Given the description of an element on the screen output the (x, y) to click on. 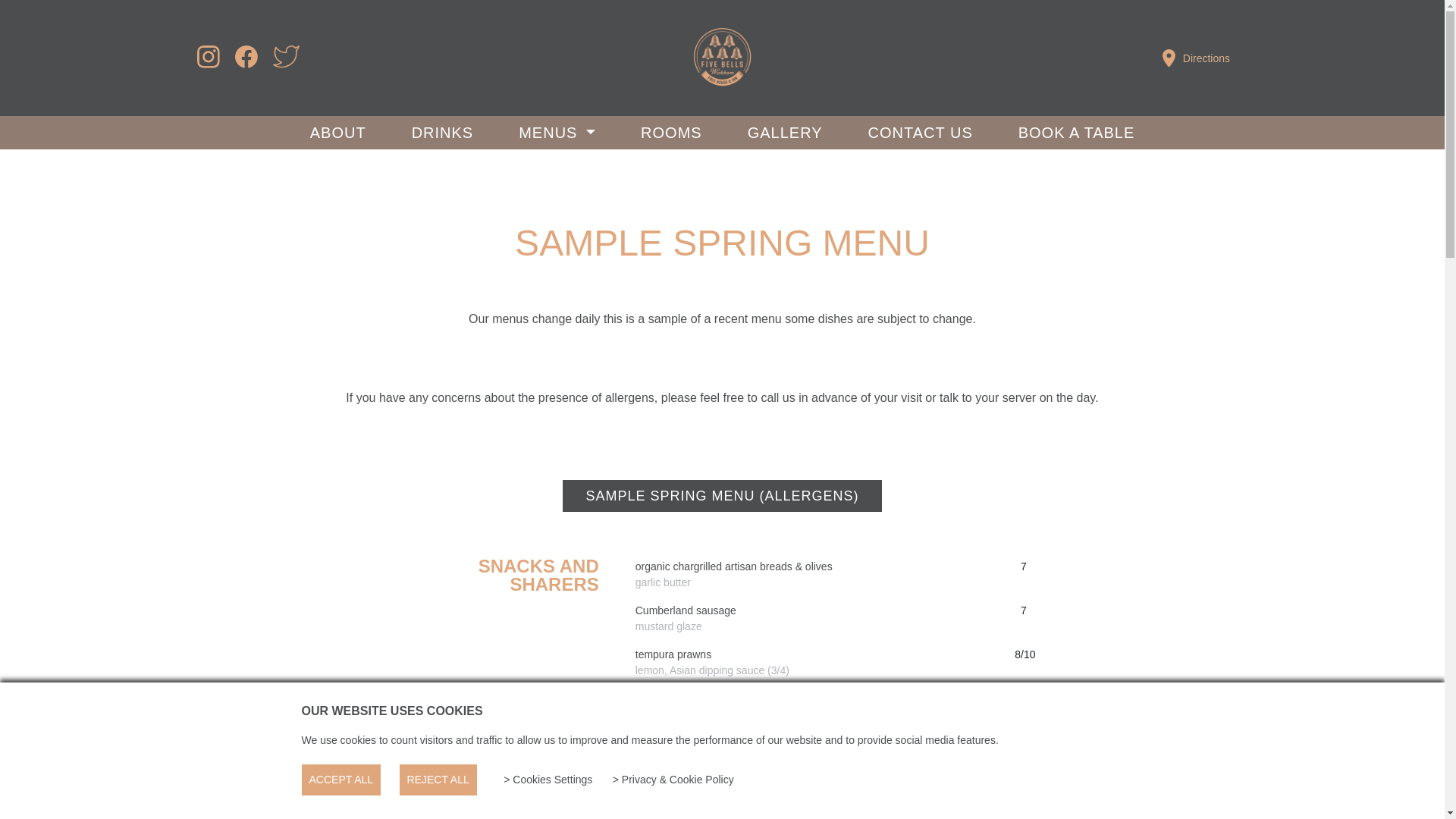
Directions (1195, 57)
MENUS (556, 132)
Twitter (286, 63)
CONTACT US (919, 132)
ABOUT (338, 132)
DRINKS (443, 132)
Facebook (245, 63)
The Five Bells (722, 56)
ACCEPT ALL (341, 779)
BOOK A TABLE (1076, 132)
Instagram (207, 63)
GALLERY (785, 132)
ROOMS (670, 132)
